Given the description of an element on the screen output the (x, y) to click on. 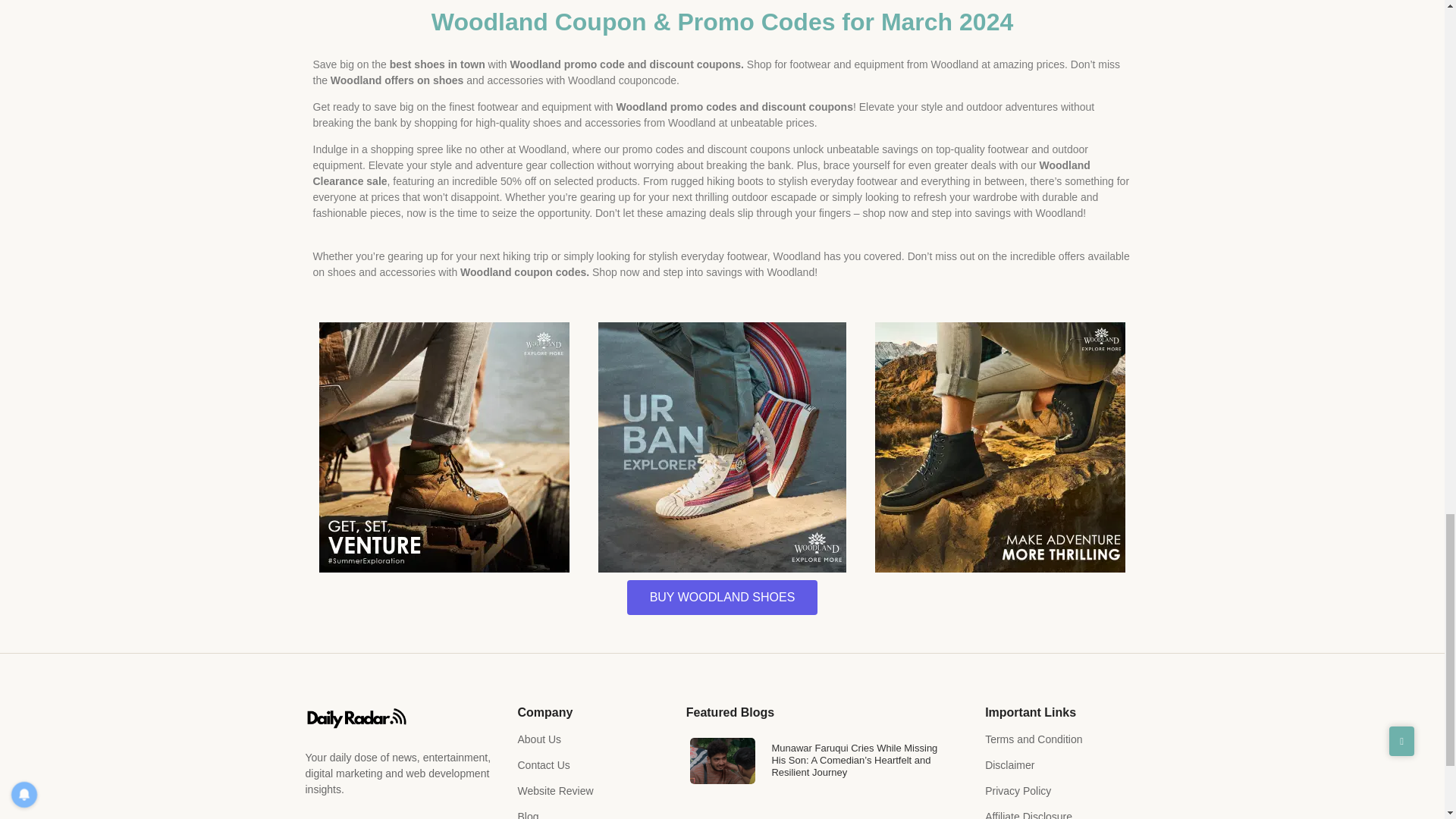
BUY WOODLAND SHOES (722, 597)
